Given the description of an element on the screen output the (x, y) to click on. 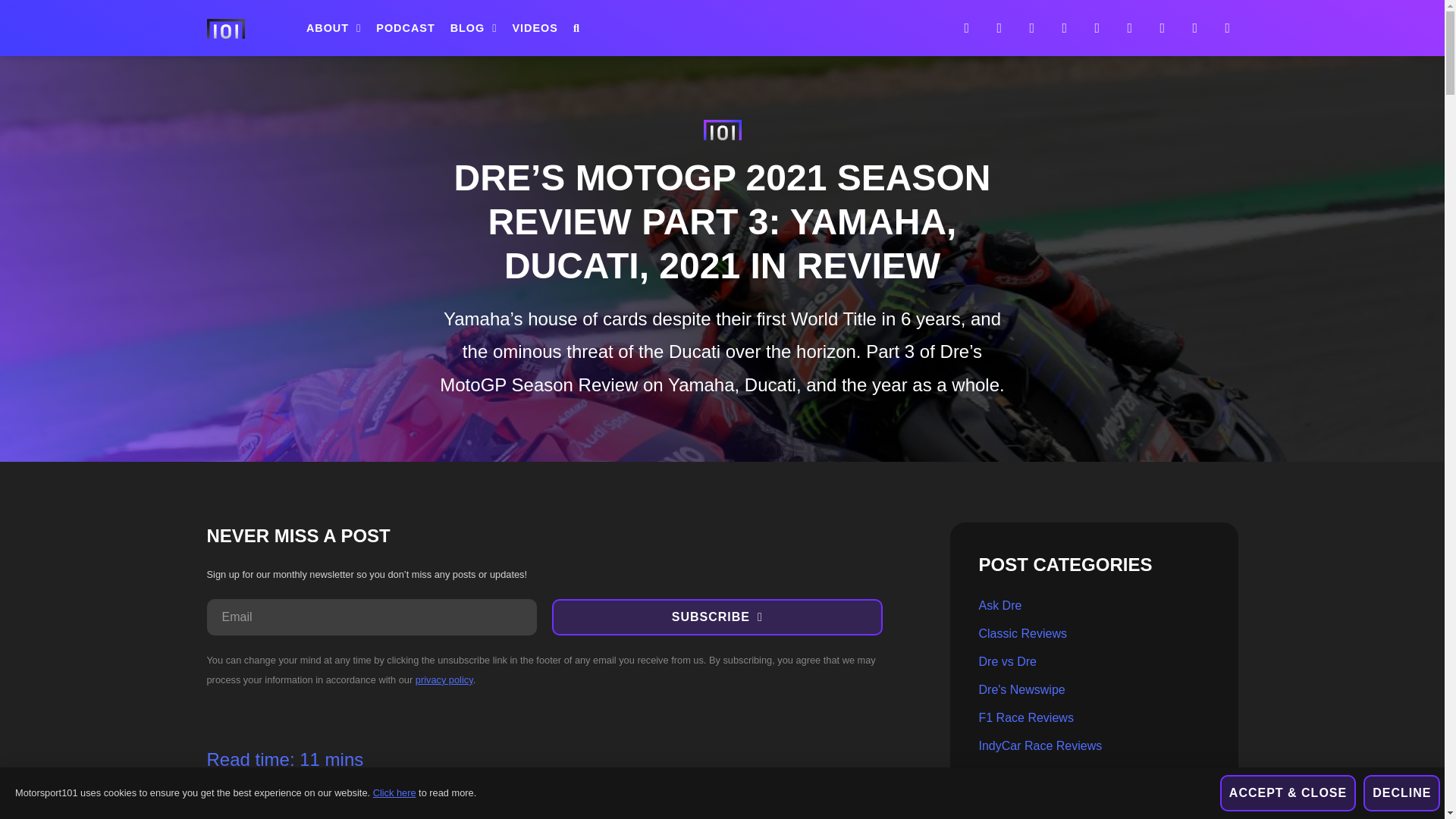
BLOG (473, 27)
ABOUT (333, 27)
PODCAST (404, 27)
VIDEOS (534, 27)
